Given the description of an element on the screen output the (x, y) to click on. 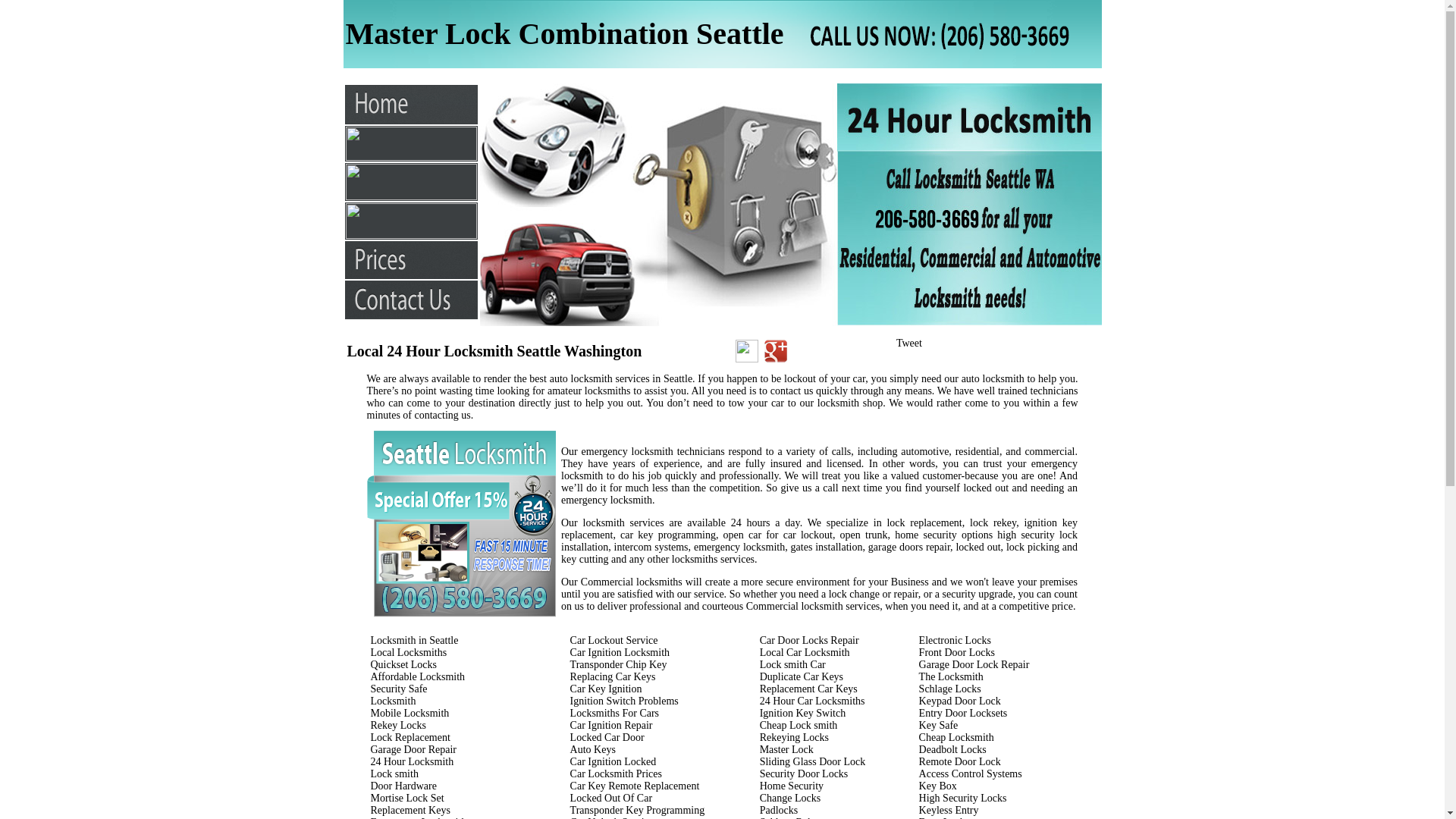
Tweet Element type: text (909, 342)
